Given the description of an element on the screen output the (x, y) to click on. 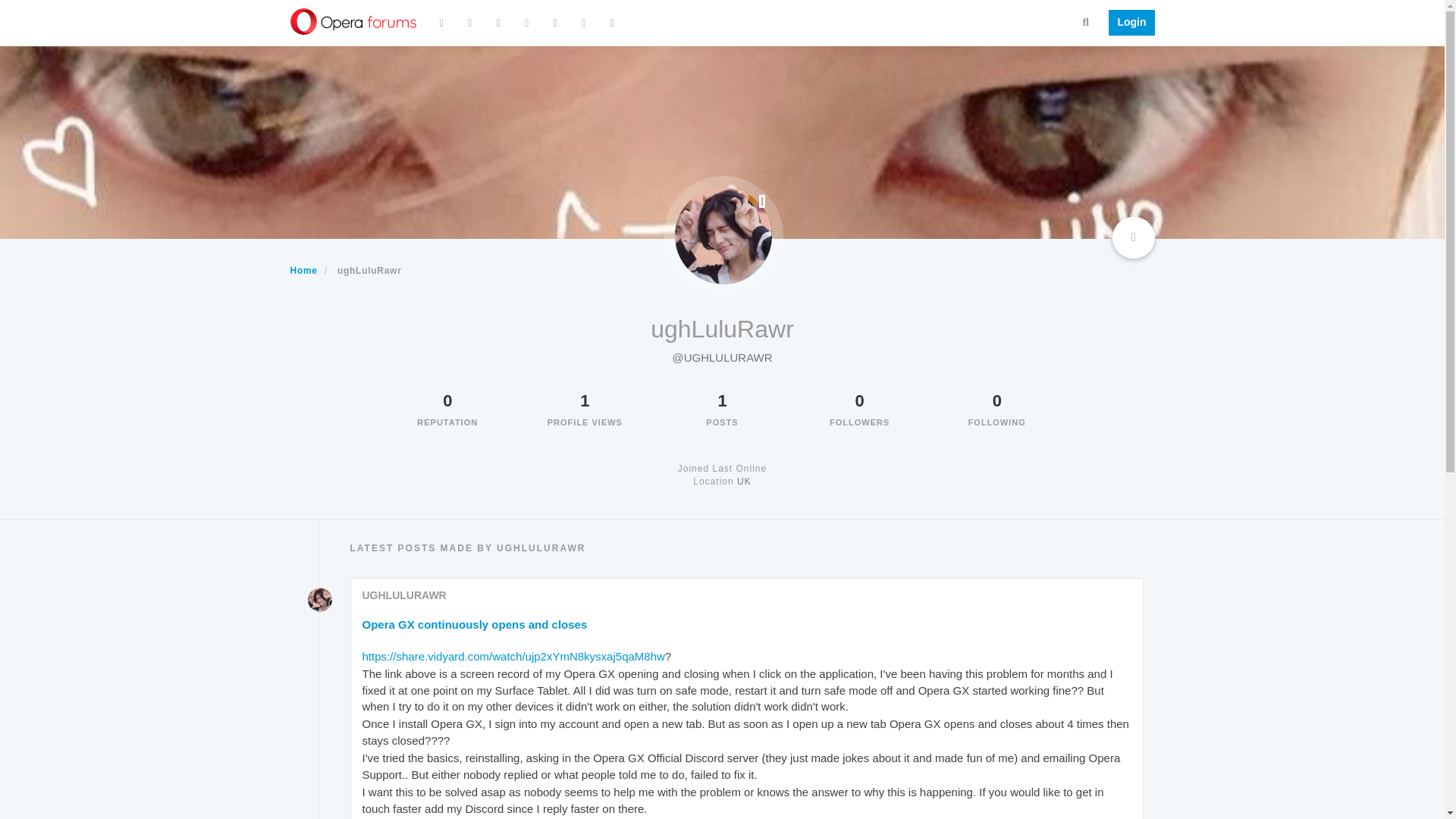
0 (447, 400)
Search (1085, 21)
Login (1127, 22)
Home (303, 270)
Opera GX continuously opens and closes (475, 624)
UGHLULURAWR (404, 594)
